Given the description of an element on the screen output the (x, y) to click on. 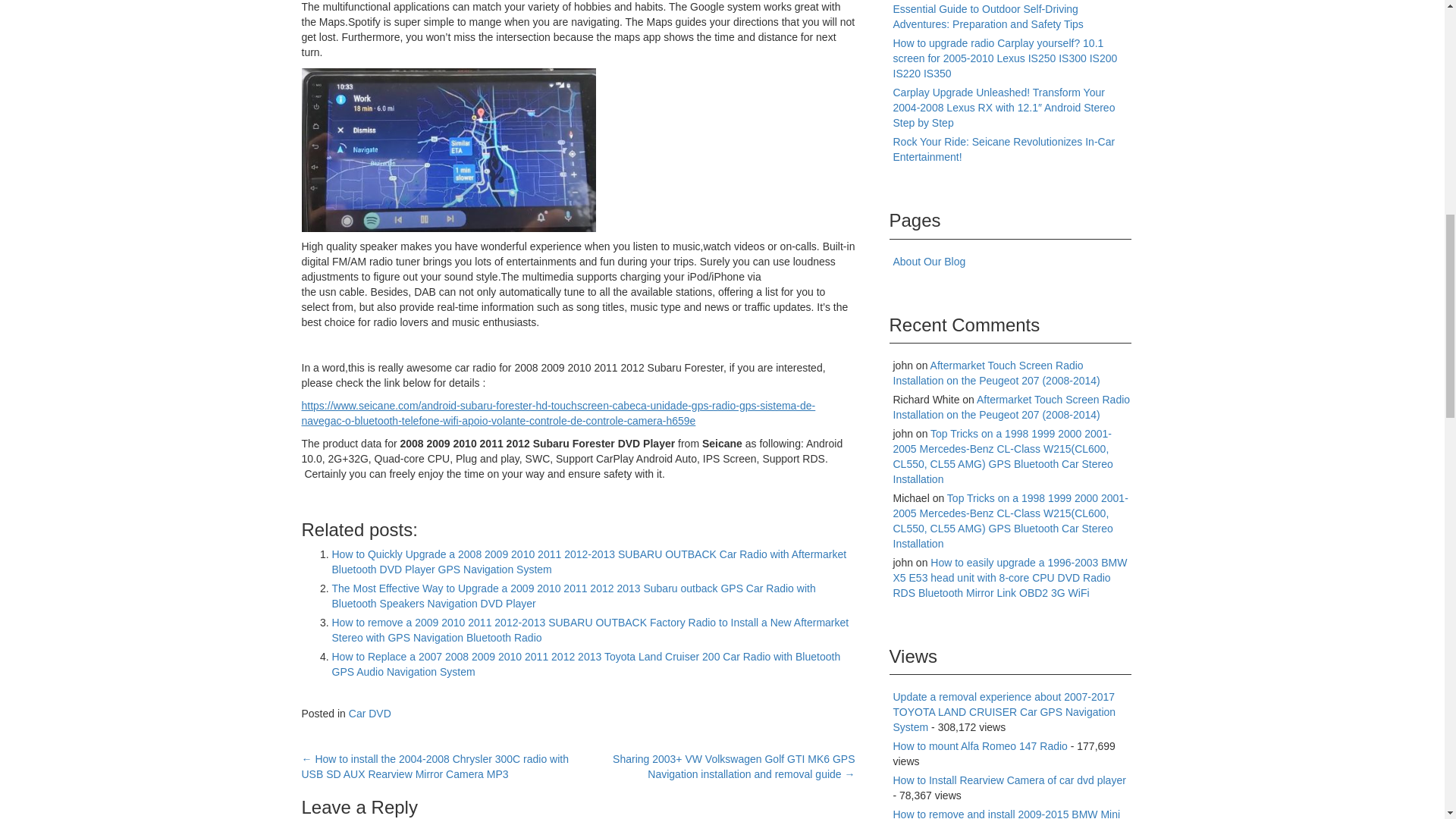
Car DVD (370, 713)
